Given the description of an element on the screen output the (x, y) to click on. 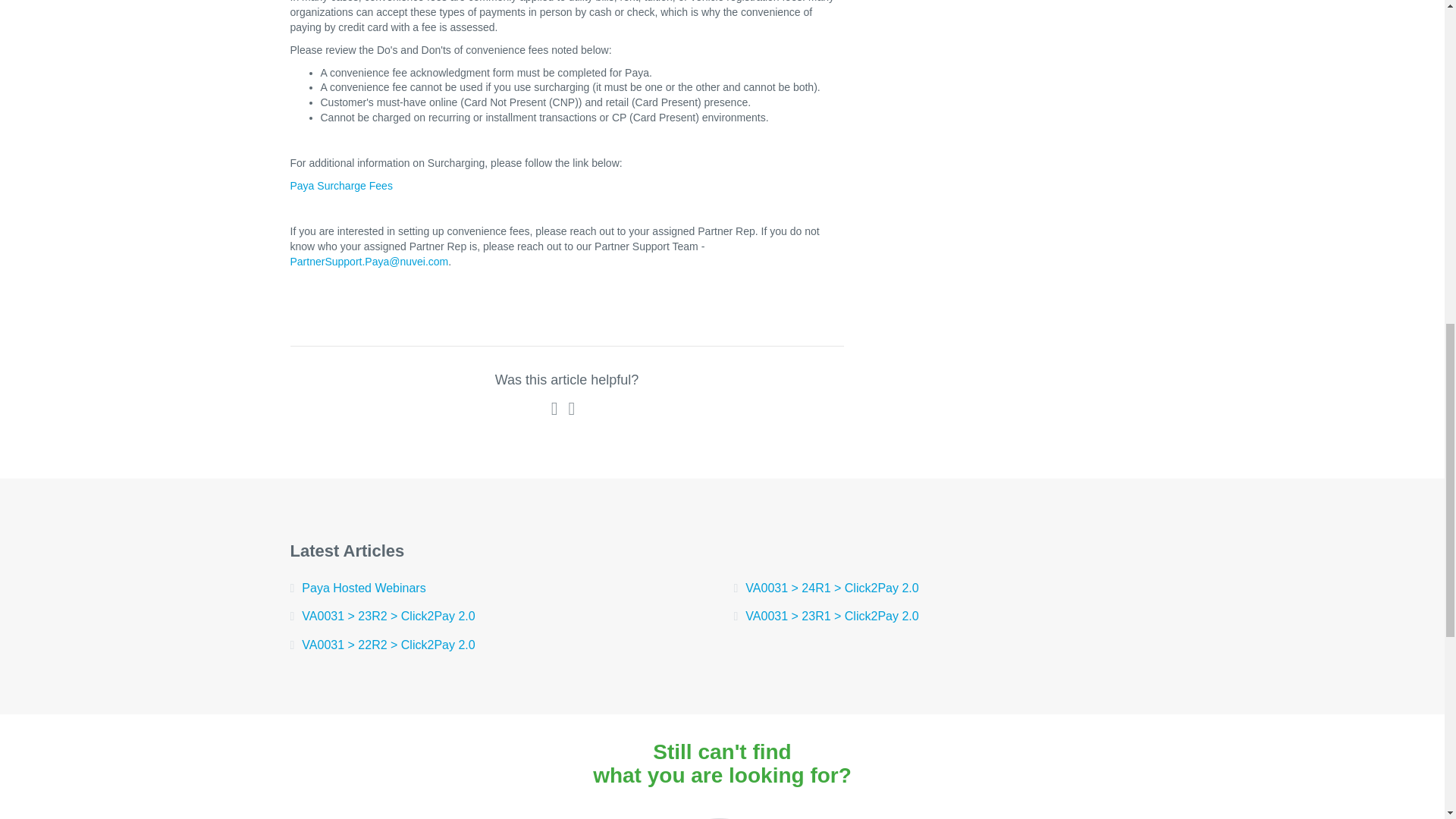
Paya Hosted Webinars (500, 588)
Paya Surcharge Fees (340, 185)
